Given the description of an element on the screen output the (x, y) to click on. 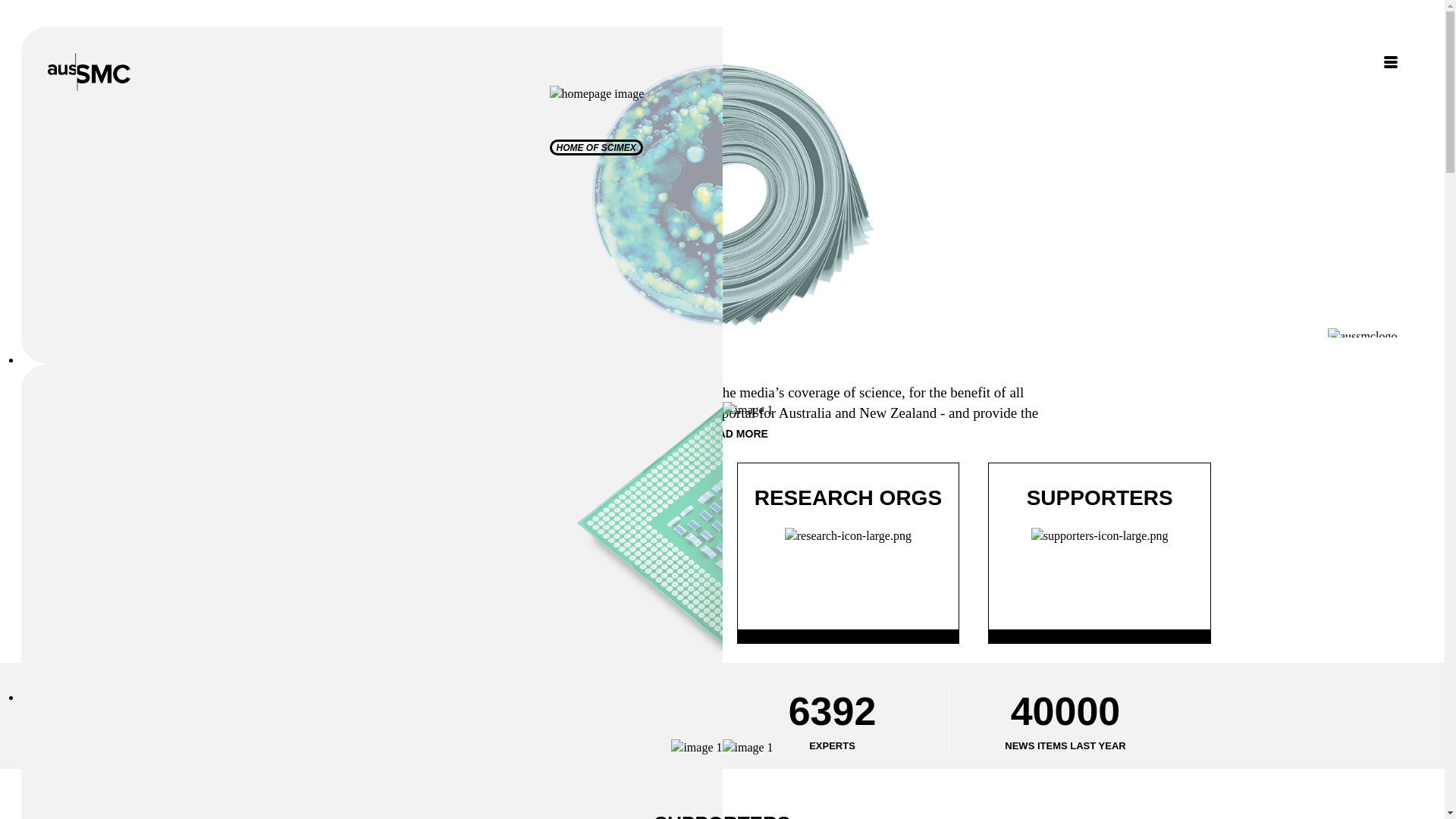
SUPPORTERS Element type: text (1099, 537)
READ MORE Element type: text (735, 433)
EXPERTS Element type: text (596, 537)
JOURNALISTS Element type: text (344, 537)
HOME OF SCIMEX Element type: text (595, 147)
RESEARCH ORGS Element type: text (847, 537)
